Given the description of an element on the screen output the (x, y) to click on. 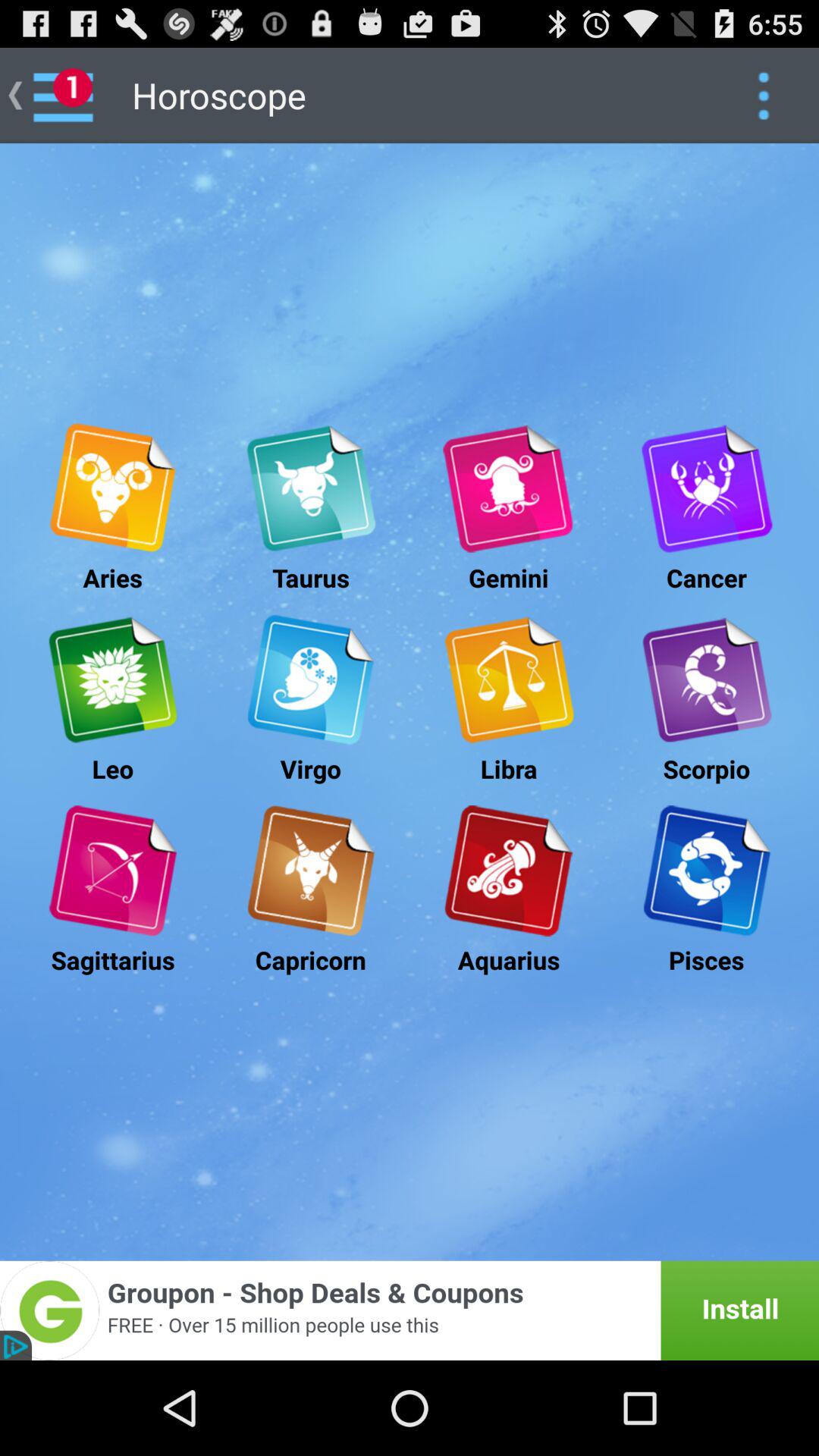
advertisement (706, 488)
